Given the description of an element on the screen output the (x, y) to click on. 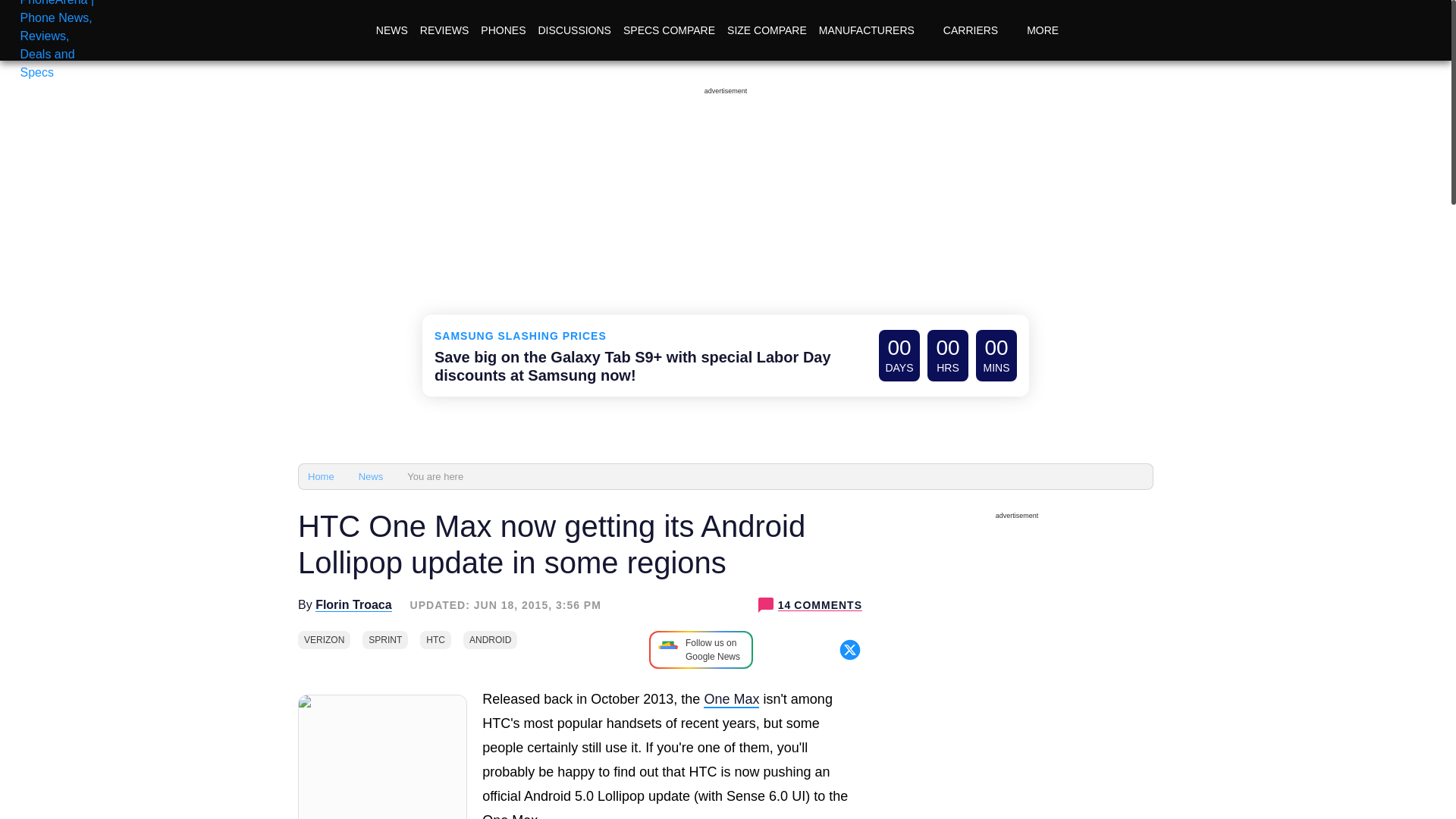
SPECS COMPARE (668, 30)
MANUFACTURERS (874, 30)
HTC One max (730, 699)
PHONES (502, 30)
DISCUSSIONS (573, 30)
SIZE COMPARE (766, 30)
MORE (1050, 30)
NEWS (391, 30)
CARRIERS (978, 30)
REVIEWS (444, 30)
